Given the description of an element on the screen output the (x, y) to click on. 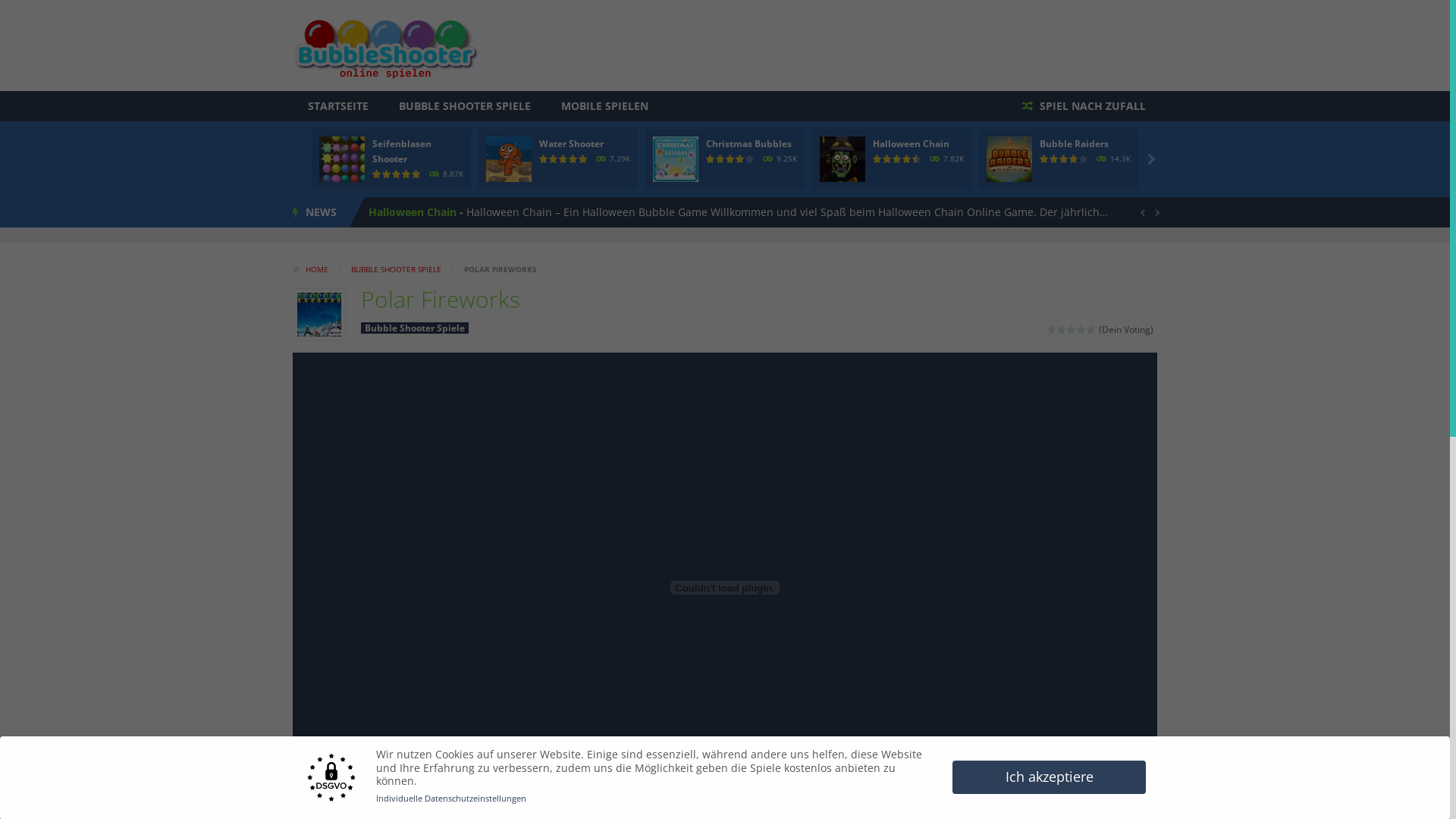
Water Shooter Element type: text (571, 143)
1 vote, average: 5,00 out of 5 Element type: hover (396, 173)
1 vote, average: 4,00 out of 5 Element type: hover (730, 158)
3 votes, average: 4,67 out of 5 Element type: hover (877, 158)
3 Stars Element type: hover (1071, 329)
2 Stars Element type: hover (1061, 329)
2 votes, average: 5,00 out of 5 Element type: hover (573, 158)
1 vote, average: 4,00 out of 5 Element type: hover (1044, 158)
5 Stars Element type: hover (1091, 329)
1 vote, average: 5,00 out of 5 Element type: hover (377, 173)
Seifenblasen Shooter Element type: text (401, 151)
3 votes, average: 4,67 out of 5 Element type: hover (887, 158)
1 vote, average: 4,00 out of 5 Element type: hover (1054, 158)
1 vote, average: 4,00 out of 5 Element type: hover (720, 158)
SPIEL NACH ZUFALL Element type: text (1083, 106)
Halloween Chain Element type: text (910, 143)
1 vote, average: 5,00 out of 5 Element type: hover (387, 173)
2 votes, average: 5,00 out of 5 Element type: hover (563, 158)
Bubble Shooter Spiele Element type: text (414, 327)
2 votes, average: 5,00 out of 5 Element type: hover (553, 158)
3 votes, average: 4,67 out of 5 Element type: hover (907, 158)
bubble-shooter.ch Element type: hover (385, 44)
3 votes, average: 4,67 out of 5 Element type: hover (897, 158)
2 votes, average: 5,00 out of 5 Element type: hover (583, 158)
BUBBLE SHOOTER SPIELE Element type: text (464, 106)
1 Star Element type: hover (1052, 329)
1 vote, average: 5,00 out of 5 Element type: hover (406, 173)
1 vote, average: 5,00 out of 5 Element type: hover (416, 173)
4 Stars Element type: hover (1081, 329)
3 votes, average: 4,67 out of 5 Element type: hover (917, 158)
STARTSEITE Element type: text (337, 106)
1 vote, average: 4,00 out of 5 Element type: hover (710, 158)
1 vote, average: 4,00 out of 5 Element type: hover (1064, 158)
Water Shooter Element type: text (406, 211)
1 vote, average: 4,00 out of 5 Element type: hover (740, 158)
Christmas Bubbles Element type: text (748, 143)
HOME Element type: text (311, 268)
1 vote, average: 4,00 out of 5 Element type: hover (1074, 158)
bubble-shooter.ch Element type: hover (385, 45)
1 vote, average: 4,00 out of 5 Element type: hover (750, 158)
1 vote, average: 4,00 out of 5 Element type: hover (1083, 158)
2 votes, average: 5,00 out of 5 Element type: hover (544, 158)
BUBBLE SHOOTER SPIELE Element type: text (396, 268)
Bubble Raiders Element type: text (1073, 143)
Ich akzeptiere Element type: text (1048, 776)
Individuelle Datenschutzeinstellungen Element type: text (451, 797)
MOBILE SPIELEN Element type: text (604, 106)
